Given the description of an element on the screen output the (x, y) to click on. 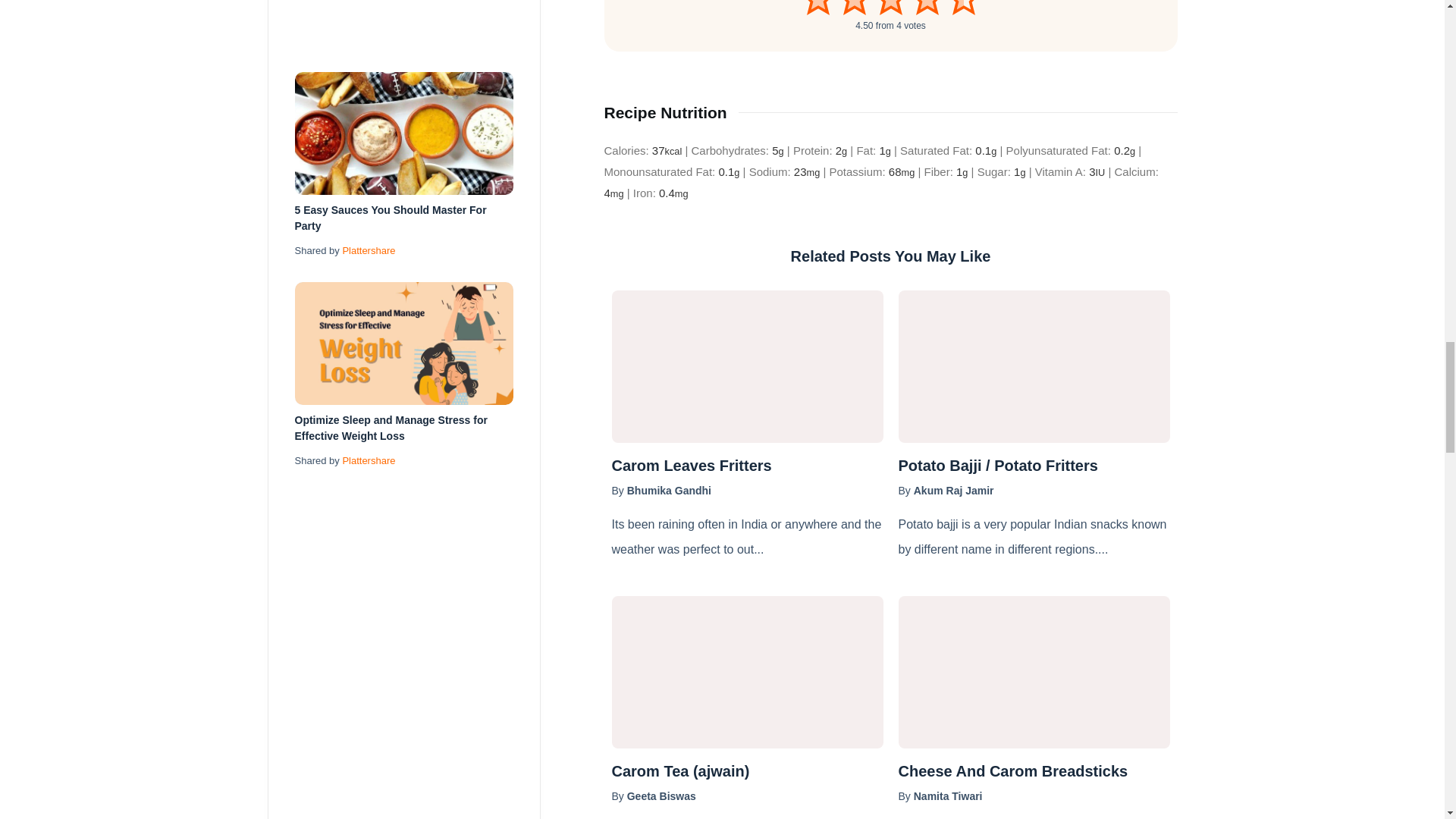
Carom Leaves Fritters (746, 465)
Cheese And Carom Breadsticks (1033, 672)
Carom Leaves Fritters (746, 366)
